Given the description of an element on the screen output the (x, y) to click on. 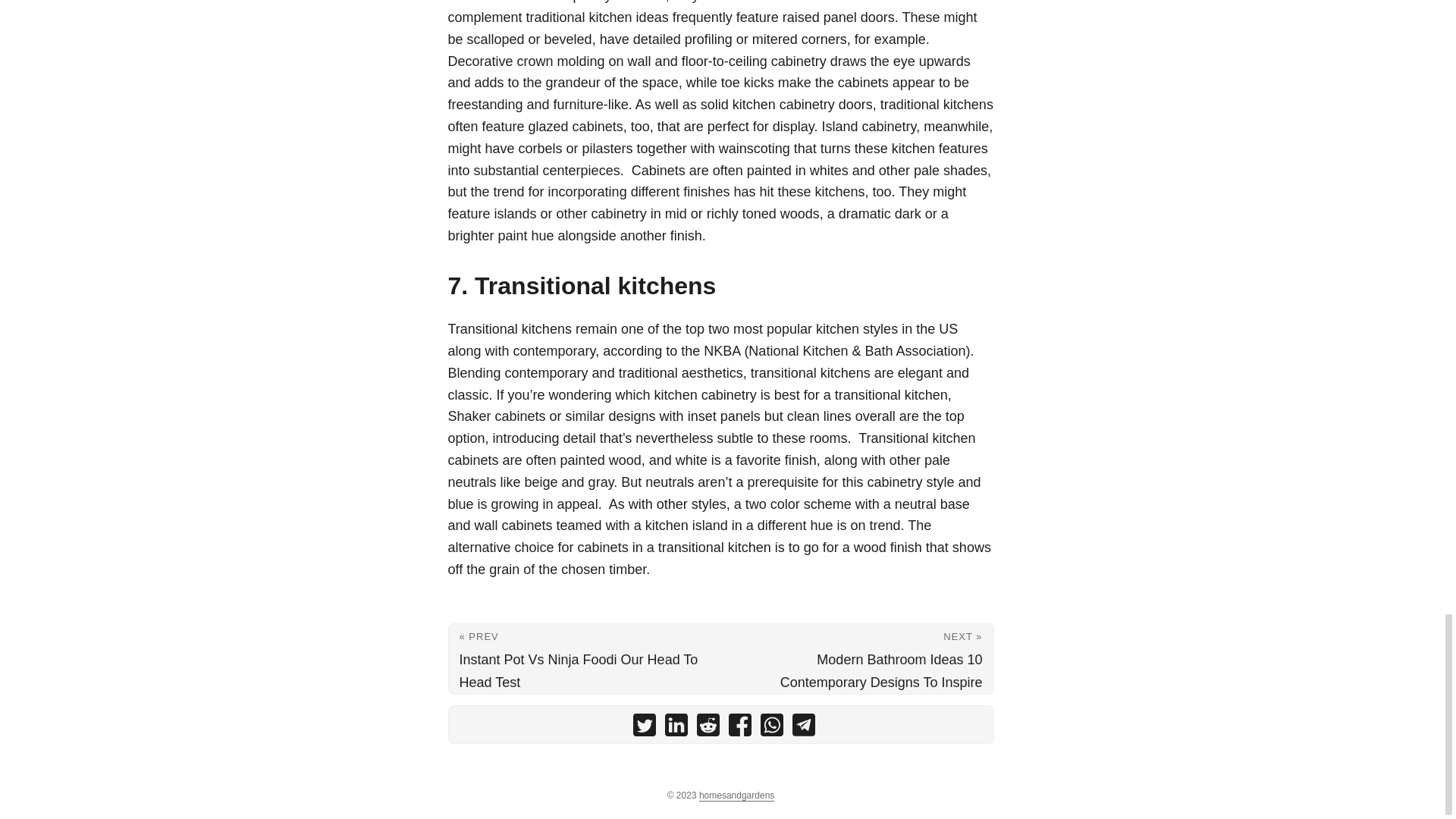
homesandgardens (736, 795)
